Given the description of an element on the screen output the (x, y) to click on. 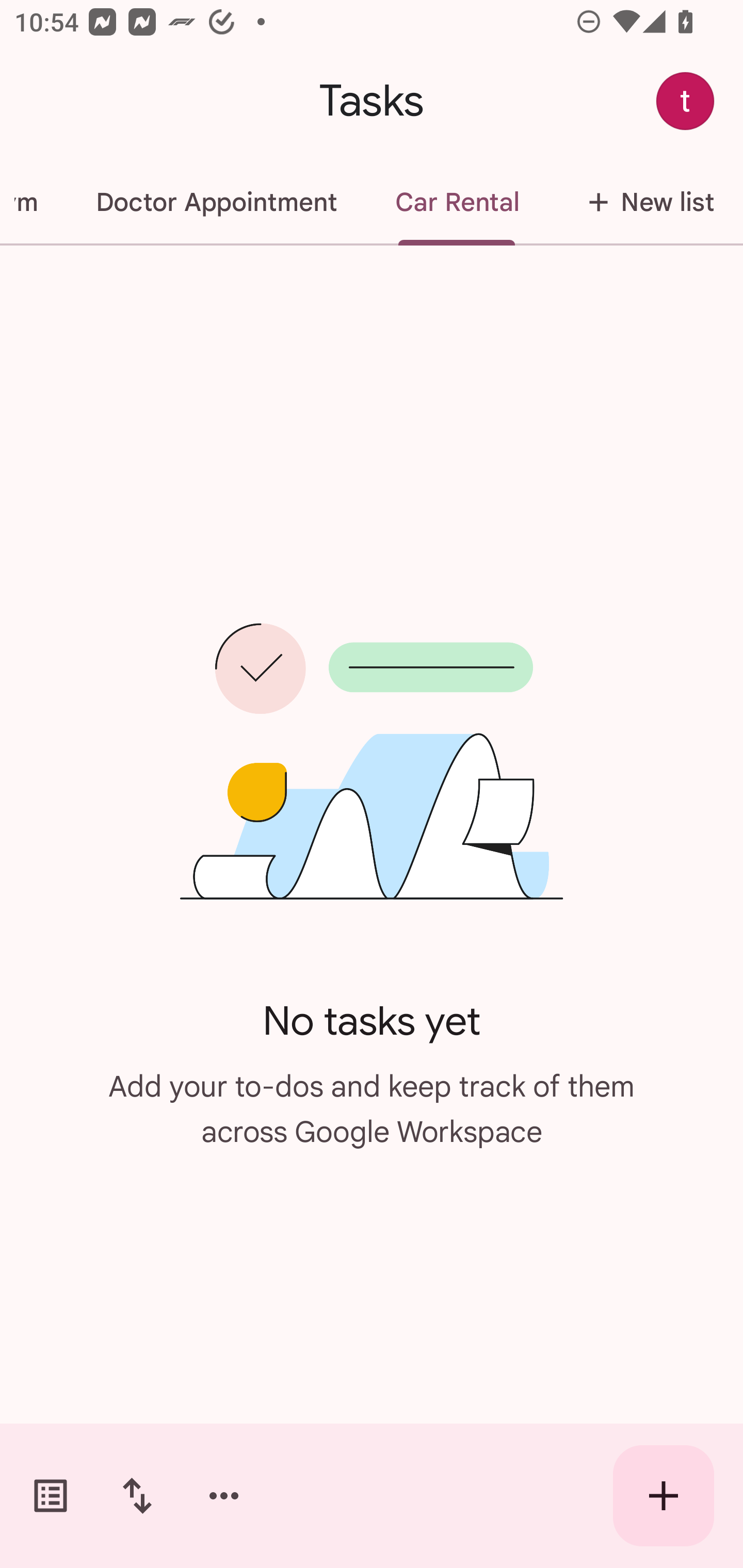
Doctor Appointment (215, 202)
New list (645, 202)
Switch task lists (50, 1495)
Create new task (663, 1495)
Change sort order (136, 1495)
More options (223, 1495)
